Given the description of an element on the screen output the (x, y) to click on. 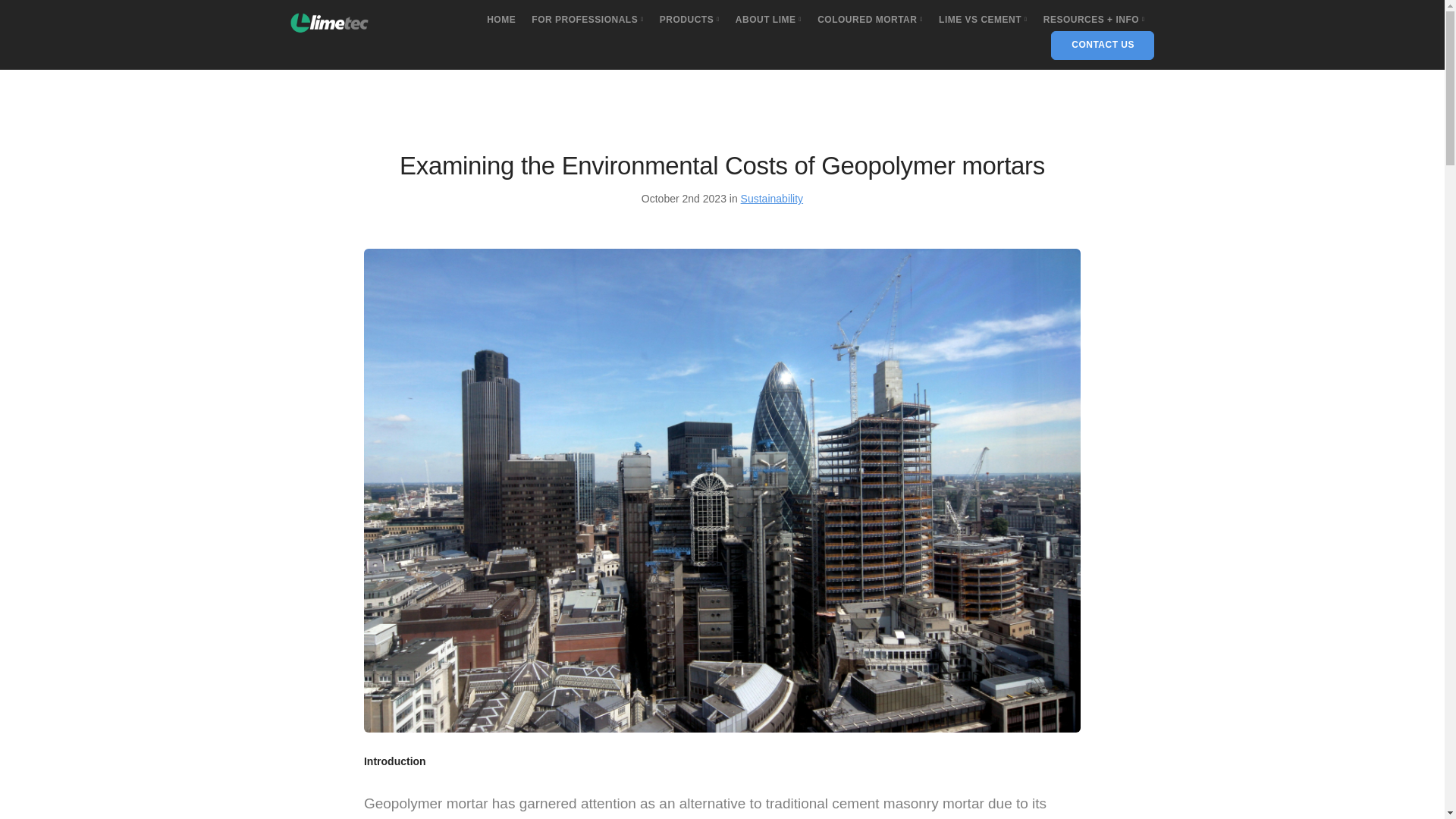
HOME (500, 19)
